Given the description of an element on the screen output the (x, y) to click on. 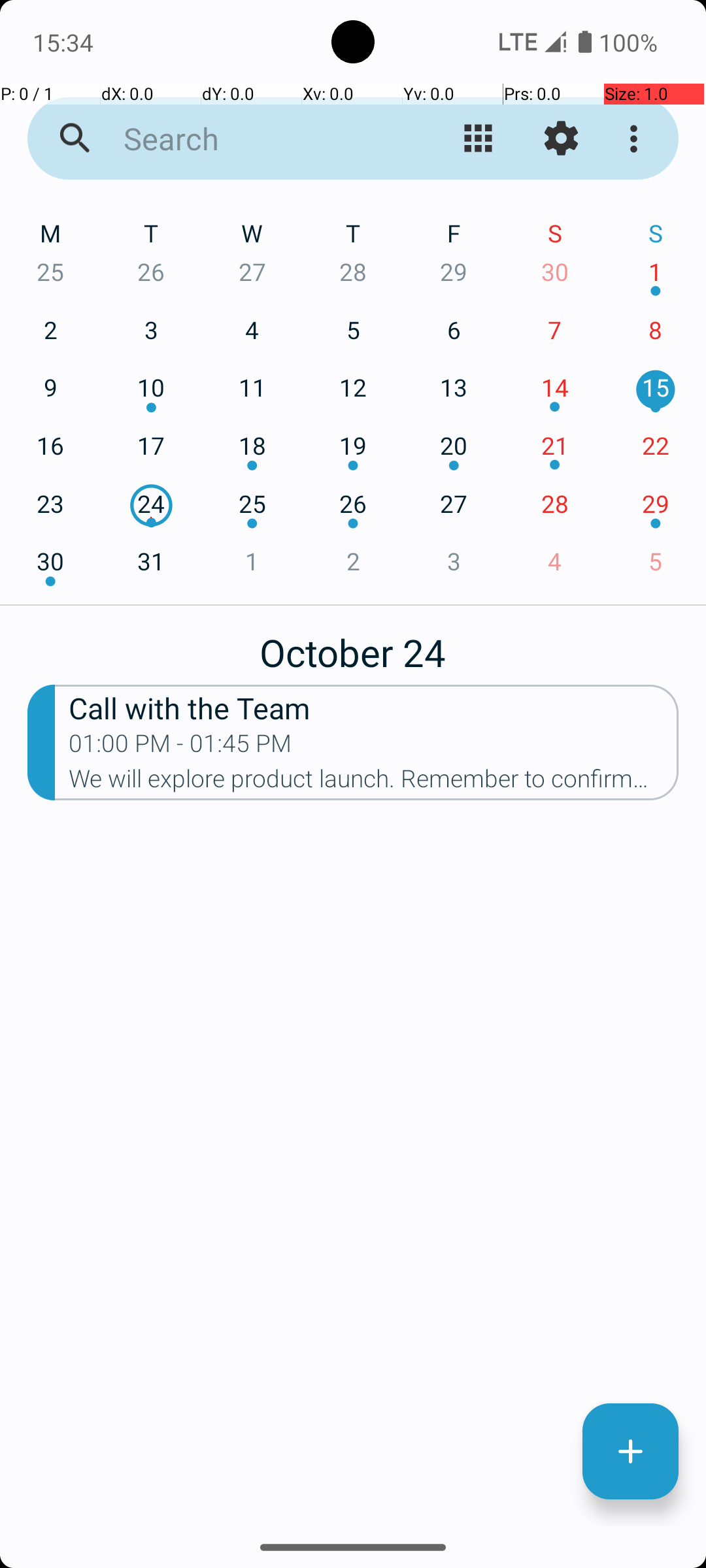
October 24 Element type: android.widget.TextView (352, 644)
Call with the Team Element type: android.widget.TextView (373, 706)
01:00 PM - 01:45 PM Element type: android.widget.TextView (179, 747)
We will explore product launch. Remember to confirm attendance. Element type: android.widget.TextView (373, 782)
